Given the description of an element on the screen output the (x, y) to click on. 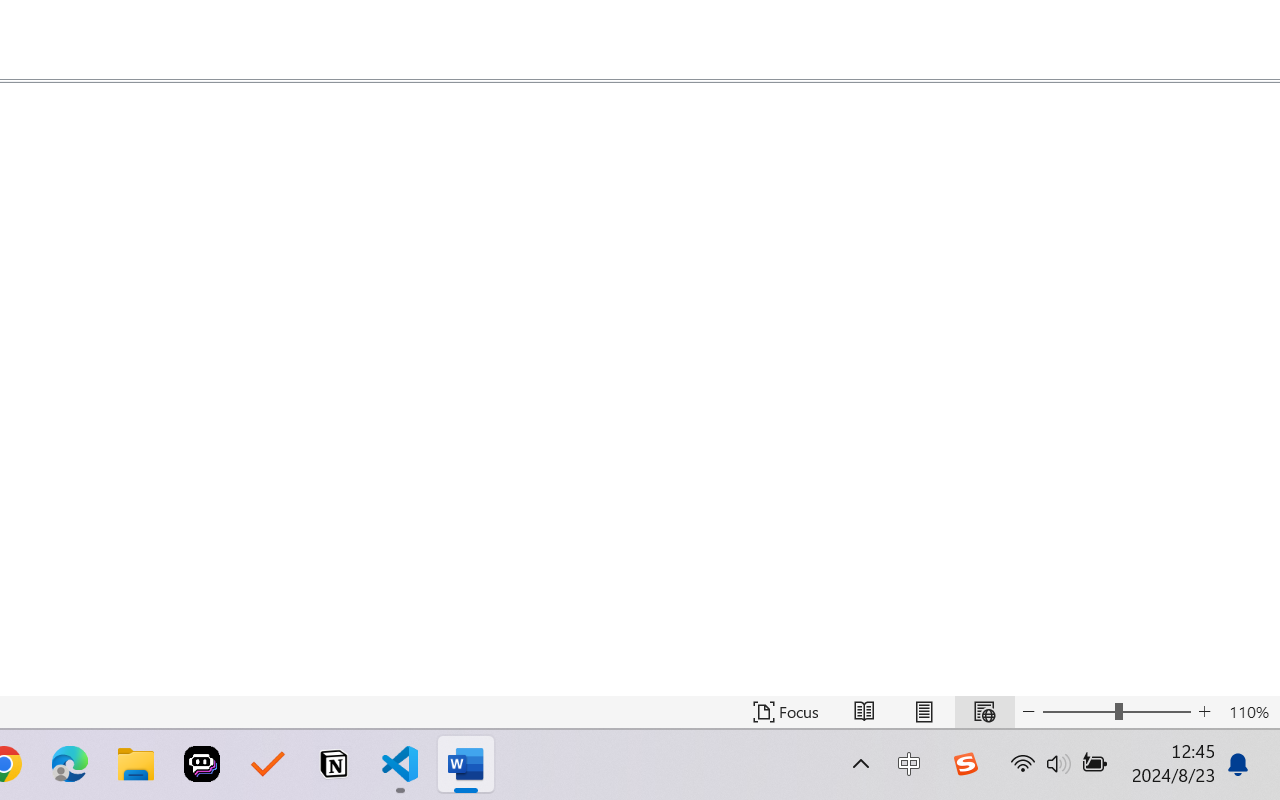
Microsoft Edge (69, 764)
Zoom 110% (1249, 712)
